Given the description of an element on the screen output the (x, y) to click on. 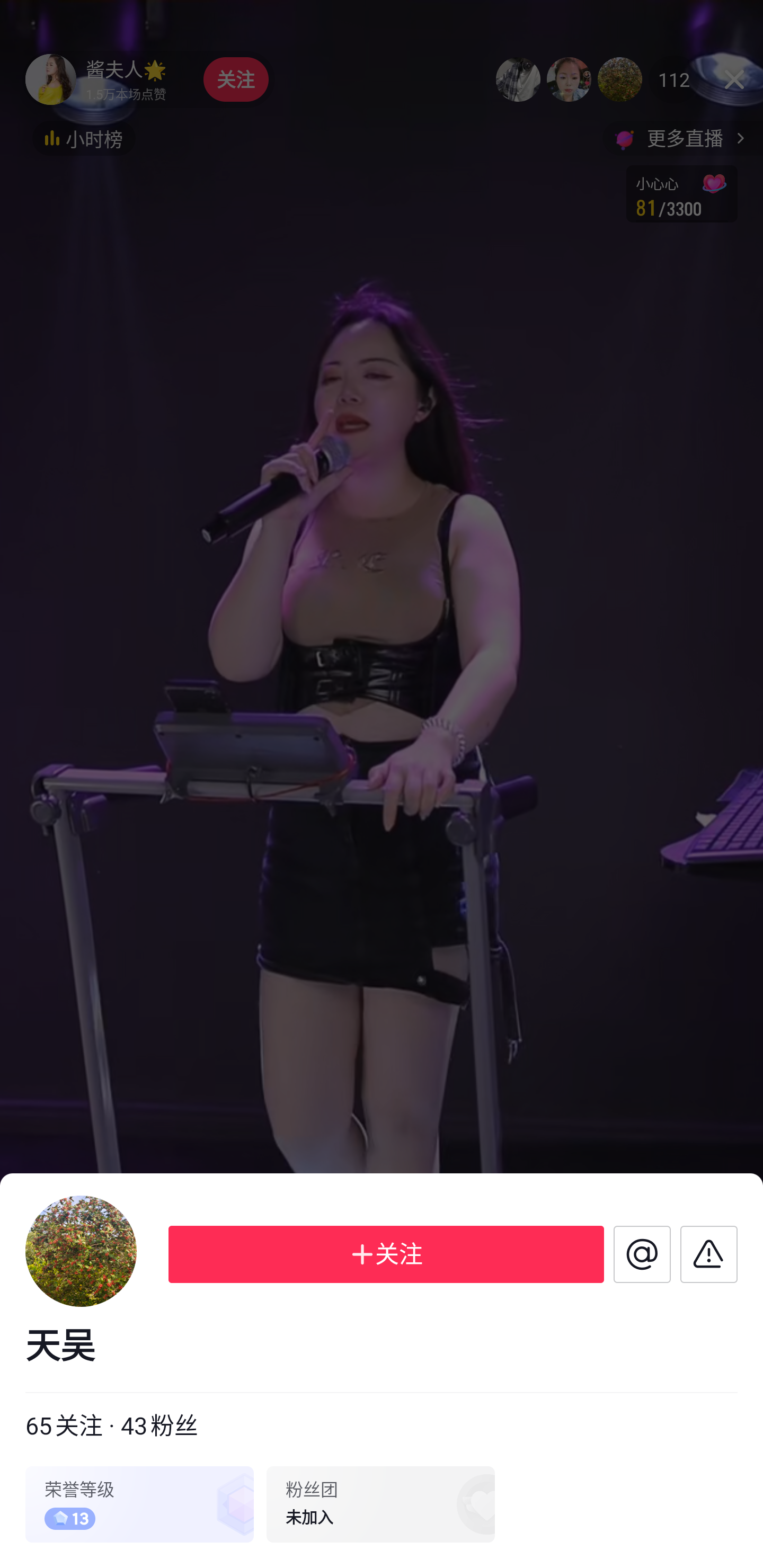
关注 按钮 关注 (386, 1254)
艾特 按钮 (641, 1254)
举报 按钮 (708, 1254)
天吴 (381, 1346)
65 关注 · 43 粉丝 (111, 1426)
荣誉等级 (139, 1504)
粉丝团 未加入 (380, 1504)
